Given the description of an element on the screen output the (x, y) to click on. 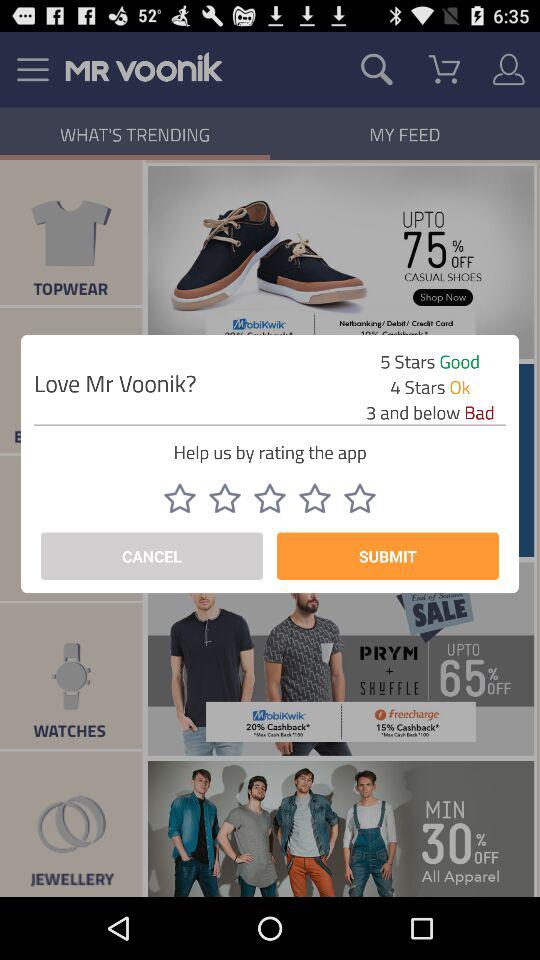
rate 2/5 (225, 498)
